Given the description of an element on the screen output the (x, y) to click on. 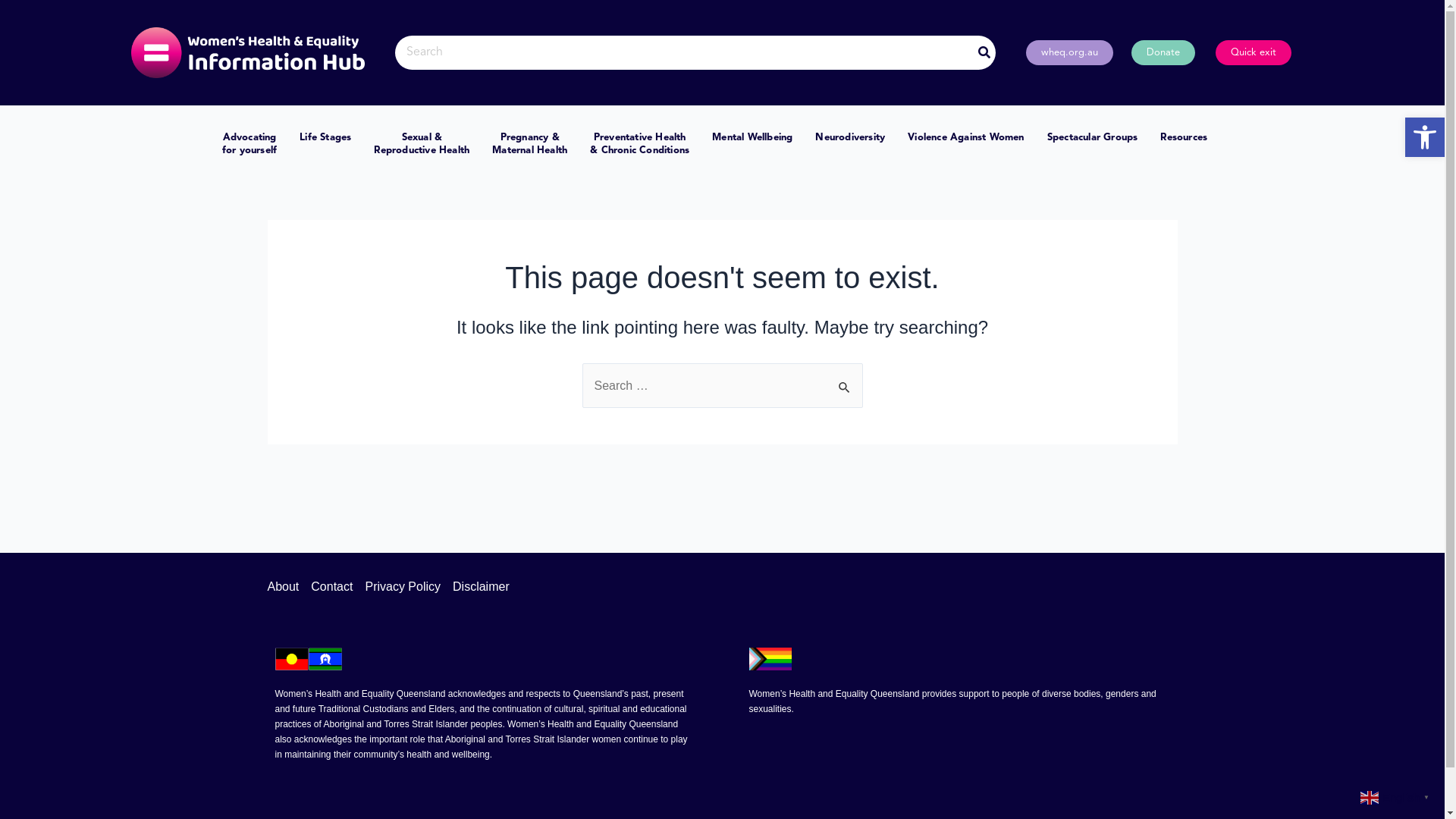
Disclaimer Element type: text (477, 586)
About Element type: text (285, 586)
Preventative Health
& Chronic Conditions Element type: text (639, 144)
Neurodiversity Element type: text (849, 138)
Violence Against Women Element type: text (965, 138)
Quick exit Element type: text (1252, 52)
Privacy Policy Element type: text (402, 586)
Search Element type: text (845, 379)
Open toolbar
Accessibility Tools Element type: text (1424, 136)
Advocating
for yourself Element type: text (249, 144)
Contact Element type: text (331, 586)
Resources Element type: text (1183, 138)
Sexual &
Reproductive Health Element type: text (421, 144)
Life Stages Element type: text (325, 138)
Search Element type: hover (684, 52)
Mental Wellbeing Element type: text (751, 138)
Donate Element type: text (1163, 52)
wheq.org.au Element type: text (1069, 52)
Pregnancy &
Maternal Health Element type: text (529, 144)
Spectacular Groups Element type: text (1092, 138)
